Given the description of an element on the screen output the (x, y) to click on. 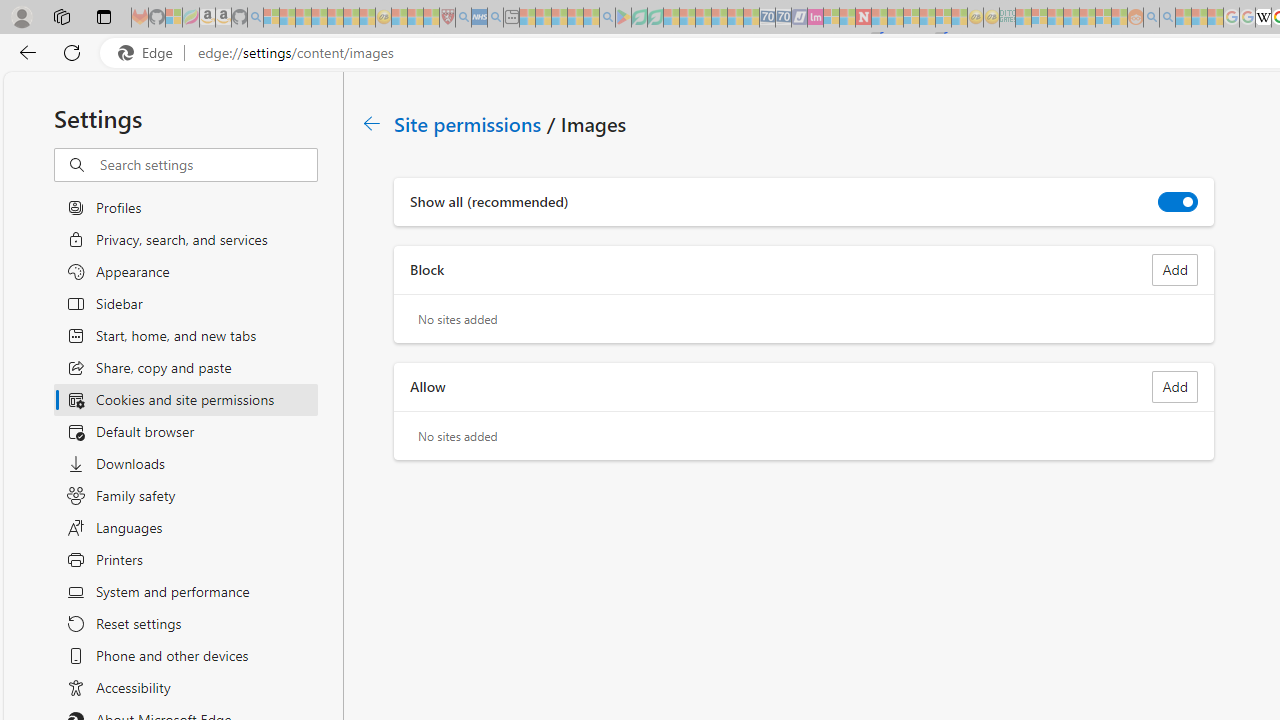
Search settings (207, 165)
Target page - Wikipedia (1263, 17)
